Given the description of an element on the screen output the (x, y) to click on. 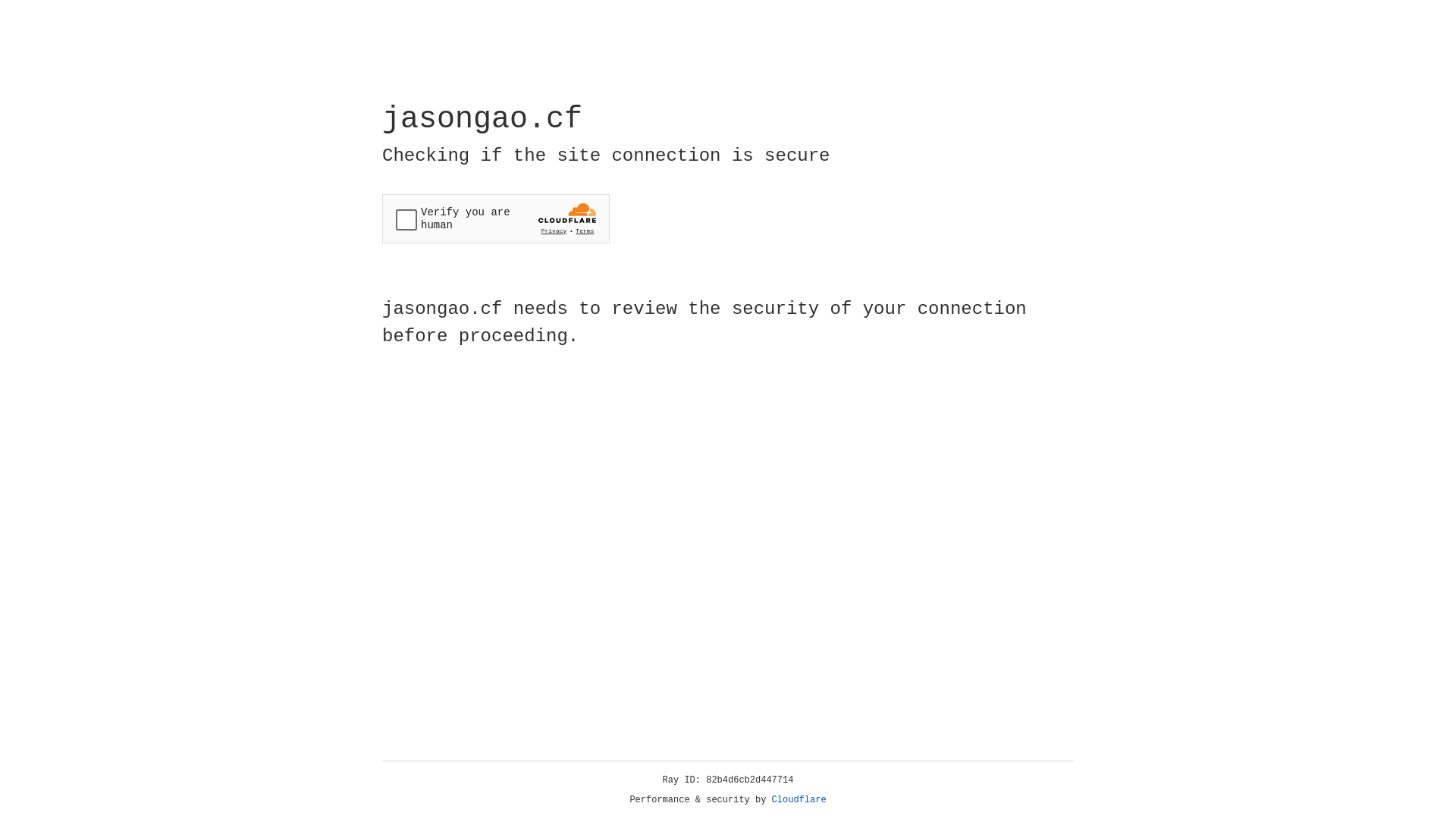
Widget containing a Cloudflare security challenge Element type: hover (495, 218)
Cloudflare Element type: text (798, 799)
